Given the description of an element on the screen output the (x, y) to click on. 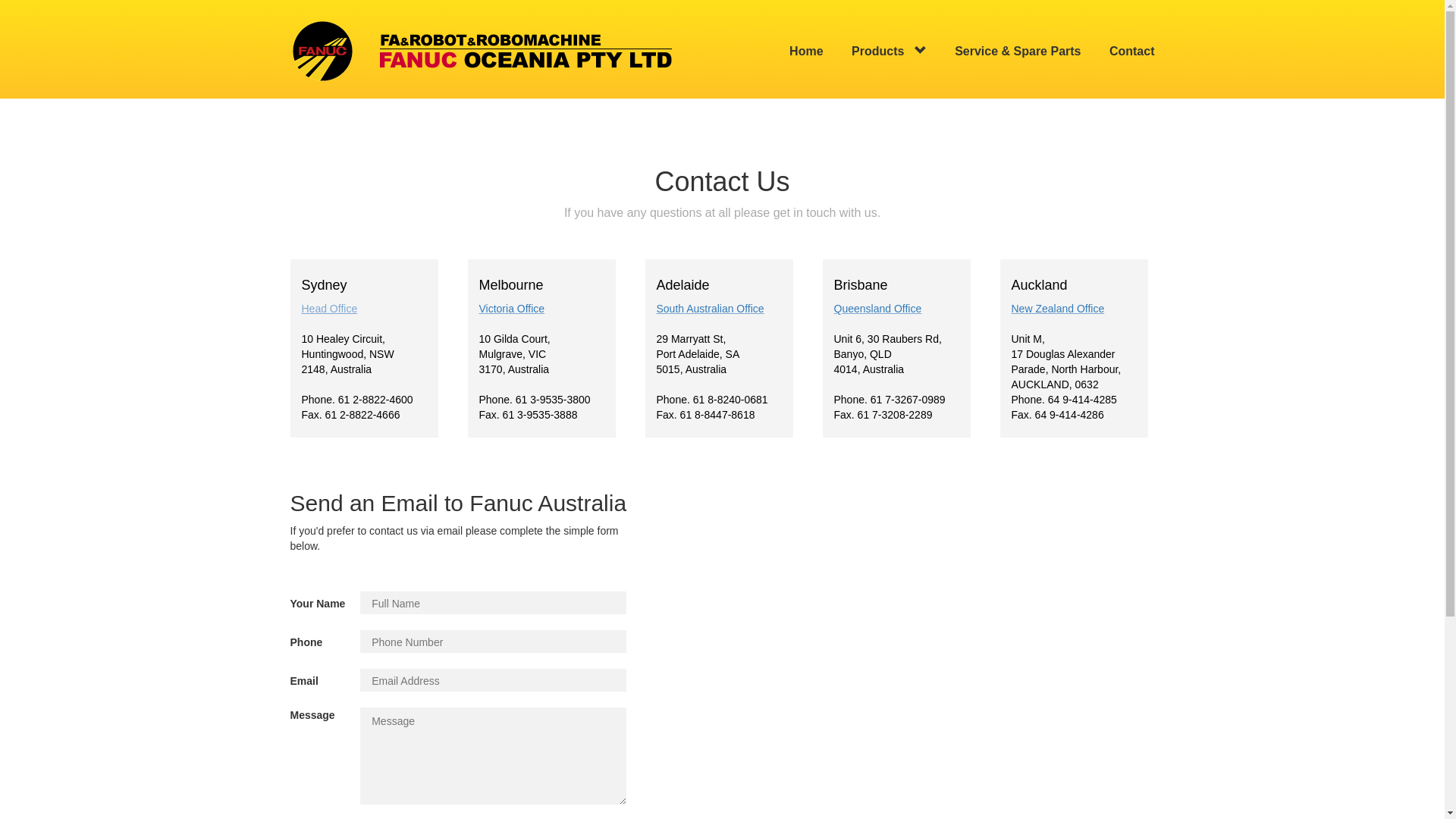
New Zealand Office Element type: text (1057, 308)
South Australian Office Element type: text (710, 308)
Service & Spare Parts Element type: text (1017, 50)
Contact Element type: text (1131, 50)
Queensland Office Element type: text (878, 308)
Head Office Element type: text (329, 308)
Victoria Office Element type: text (512, 308)
Home Element type: text (805, 50)
Products    Element type: text (888, 50)
